Given the description of an element on the screen output the (x, y) to click on. 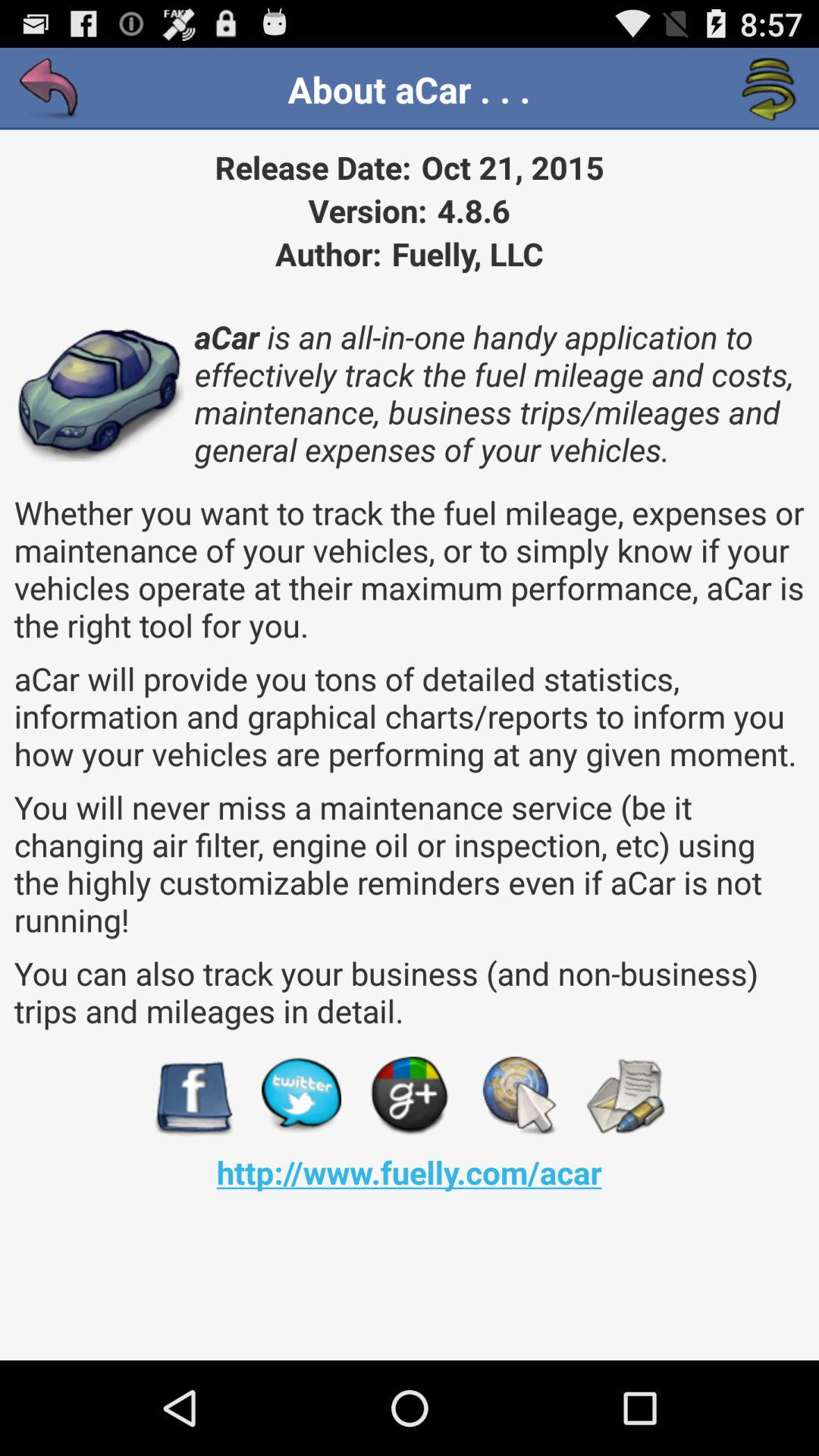
press the item next to about acar . . . icon (49, 89)
